Given the description of an element on the screen output the (x, y) to click on. 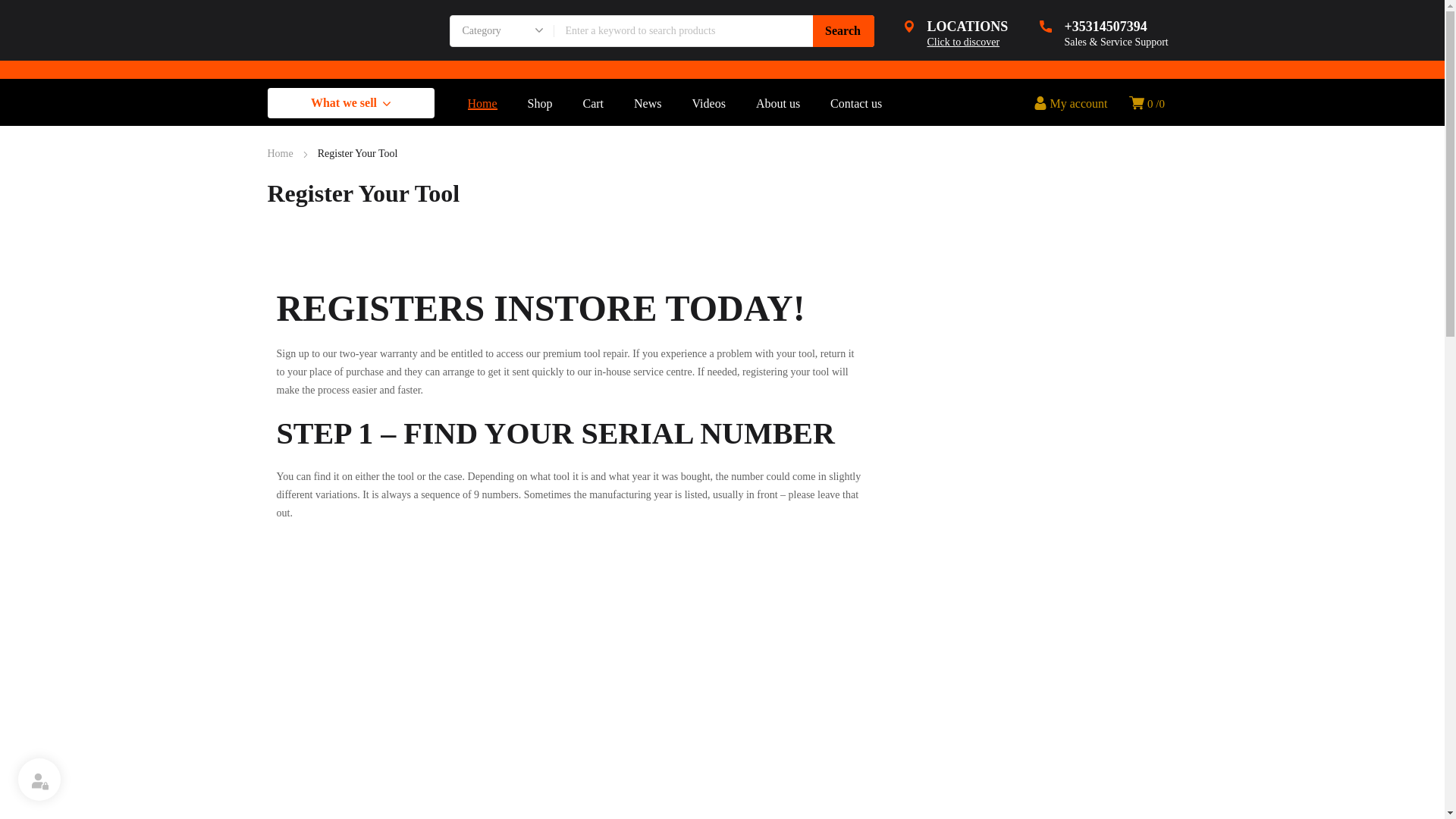
Search (842, 30)
Log In (1000, 224)
Search (954, 35)
